Given the description of an element on the screen output the (x, y) to click on. 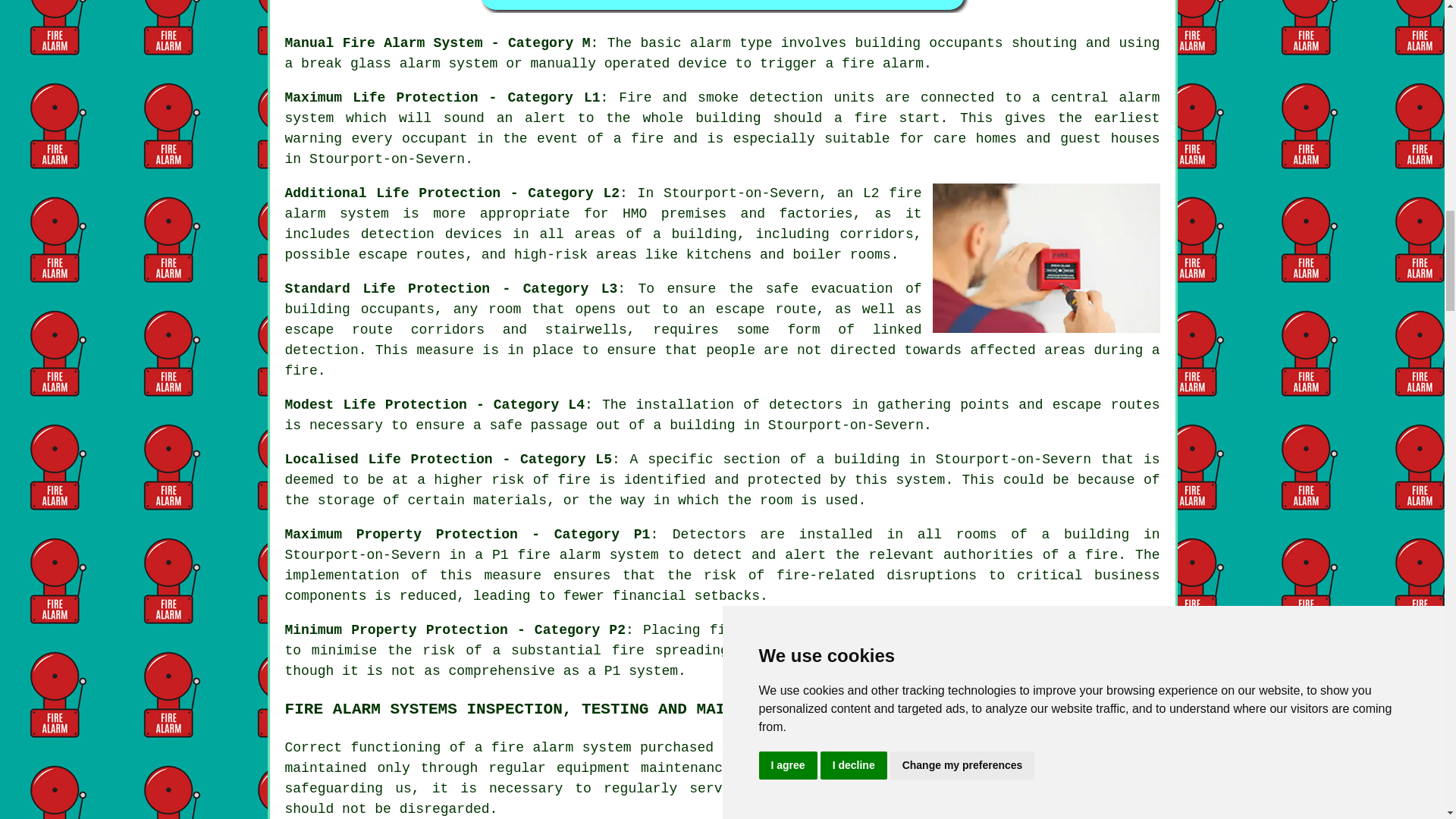
a fire alarm system (552, 747)
safe passage (538, 425)
safe evacuation (829, 288)
fire alarm system (588, 554)
alarm system (336, 213)
detectors (871, 630)
in the event of a fire (570, 138)
